Given the description of an element on the screen output the (x, y) to click on. 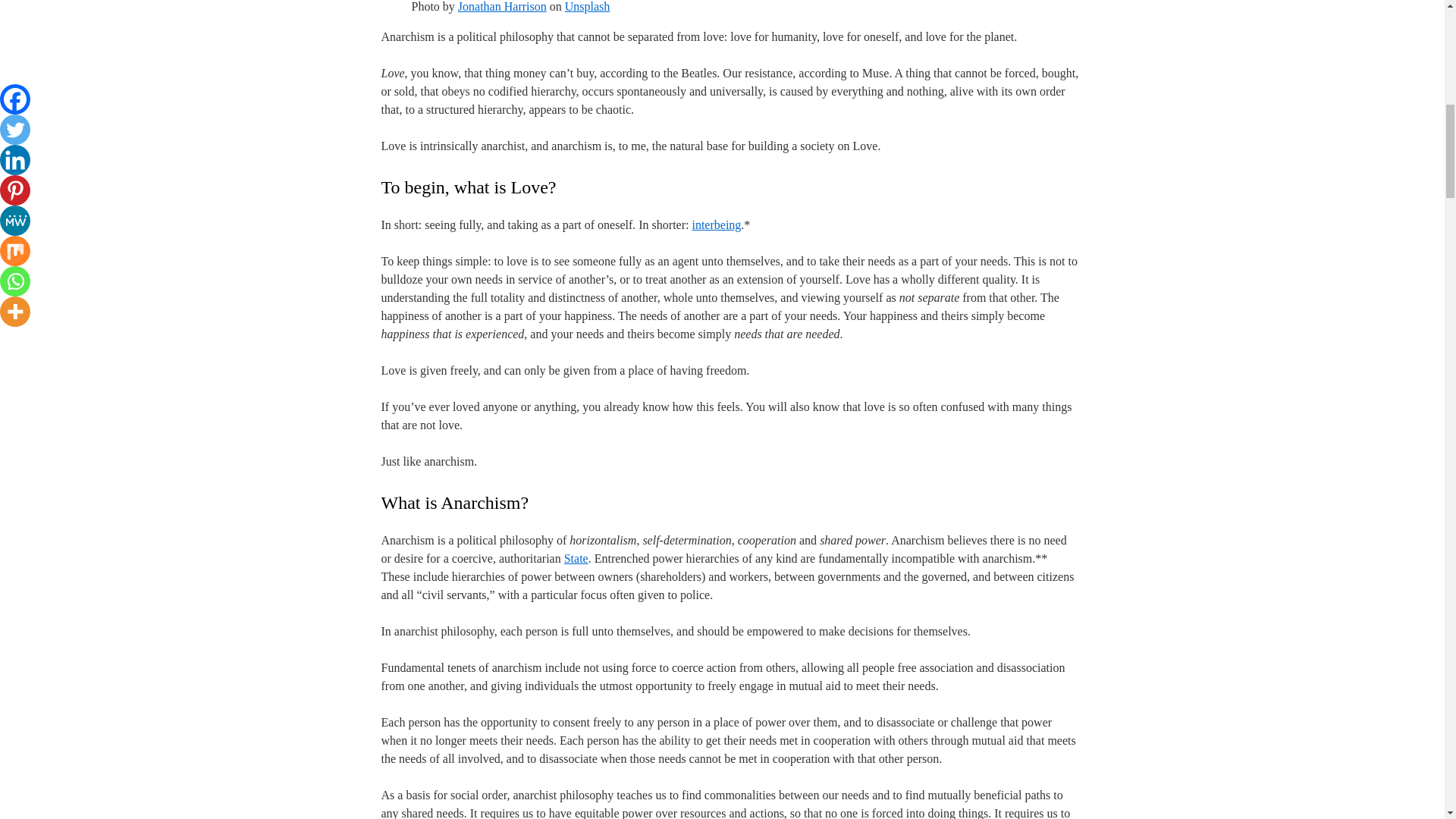
State (576, 558)
interbeing (716, 224)
Jonathan Harrison (502, 6)
Unsplash (587, 6)
